Given the description of an element on the screen output the (x, y) to click on. 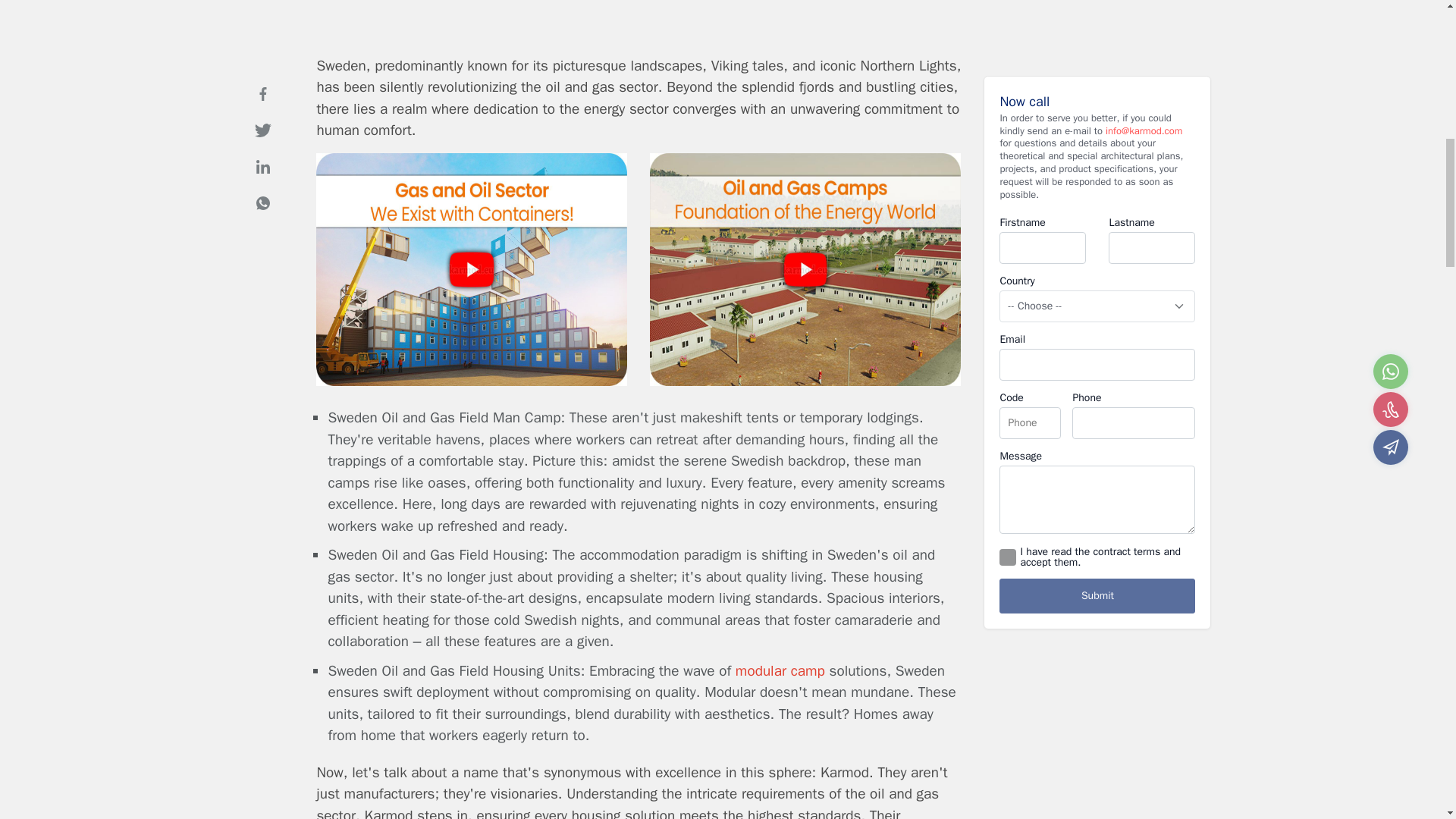
Linkedin (262, 146)
Whatsapp (262, 182)
Sweden Oil and Gas Camps (804, 381)
Facebook (262, 73)
Sweden Oil and Gas Camps (471, 381)
Twitter (262, 110)
on (1007, 536)
